Given the description of an element on the screen output the (x, y) to click on. 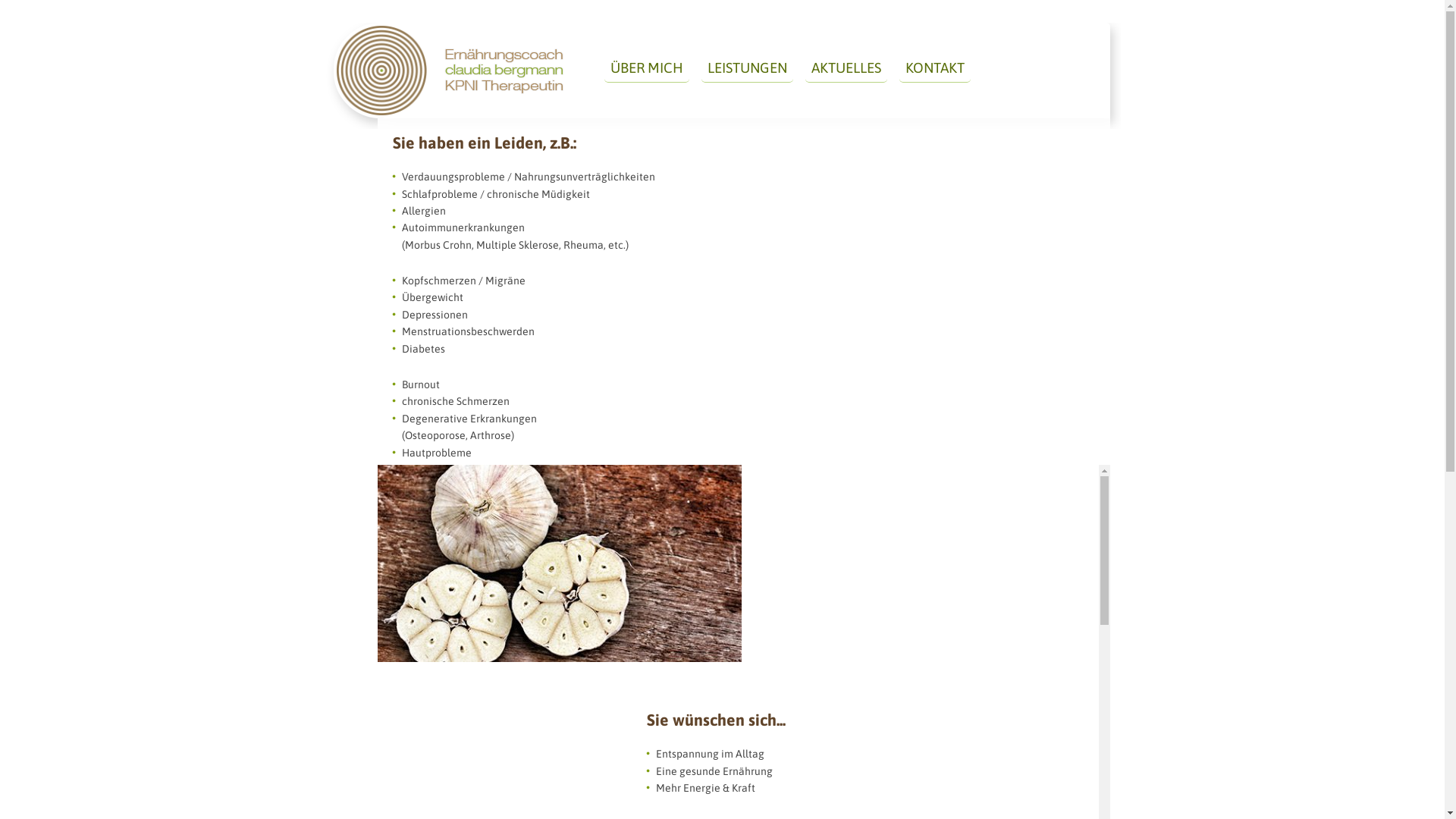
Zur Startseite Element type: hover (450, 72)
LEISTUNGEN Element type: text (746, 67)
AKTUELLES Element type: text (846, 67)
KONTAKT Element type: text (934, 67)
